Given the description of an element on the screen output the (x, y) to click on. 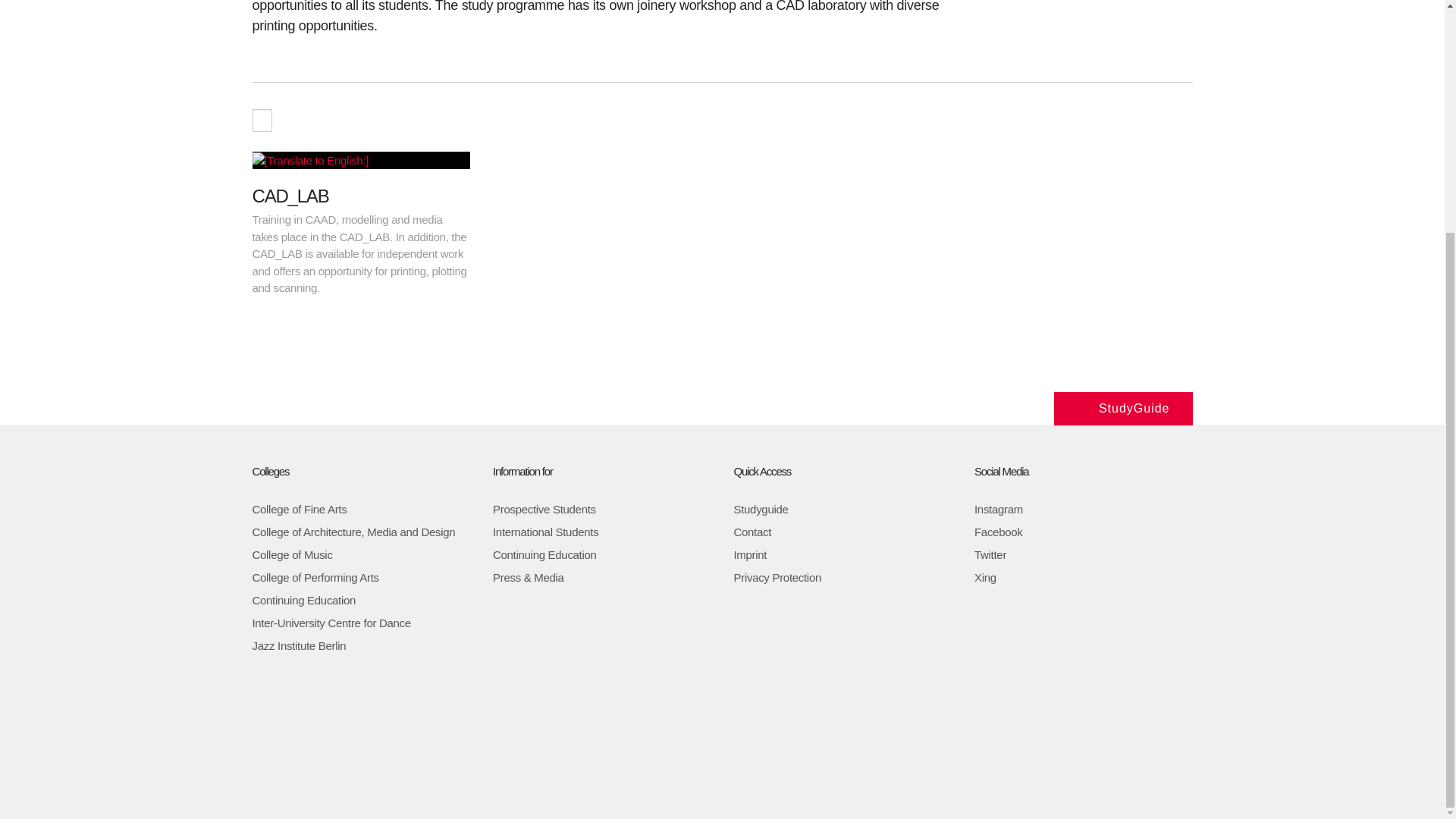
College of Fine Arts (298, 508)
StudyGuide (1123, 408)
Continuing Education (303, 599)
College of Architecture, Media and Design (352, 531)
Inter-University Centre for Dance (330, 622)
College of Music (291, 554)
College of Performing Arts (314, 576)
Jazz Institute Berlin (298, 645)
